Given the description of an element on the screen output the (x, y) to click on. 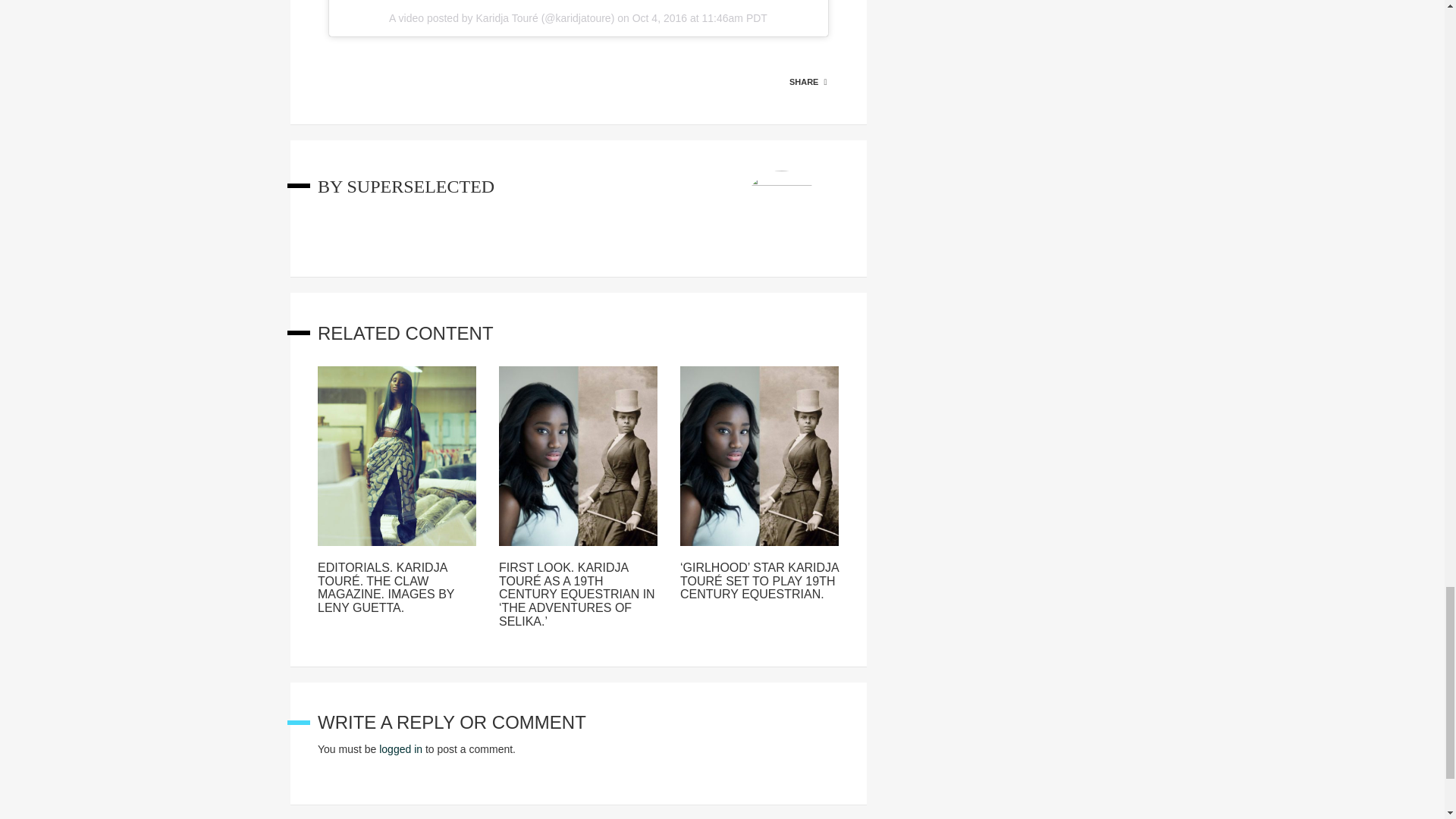
superselected (420, 186)
